Given the description of an element on the screen output the (x, y) to click on. 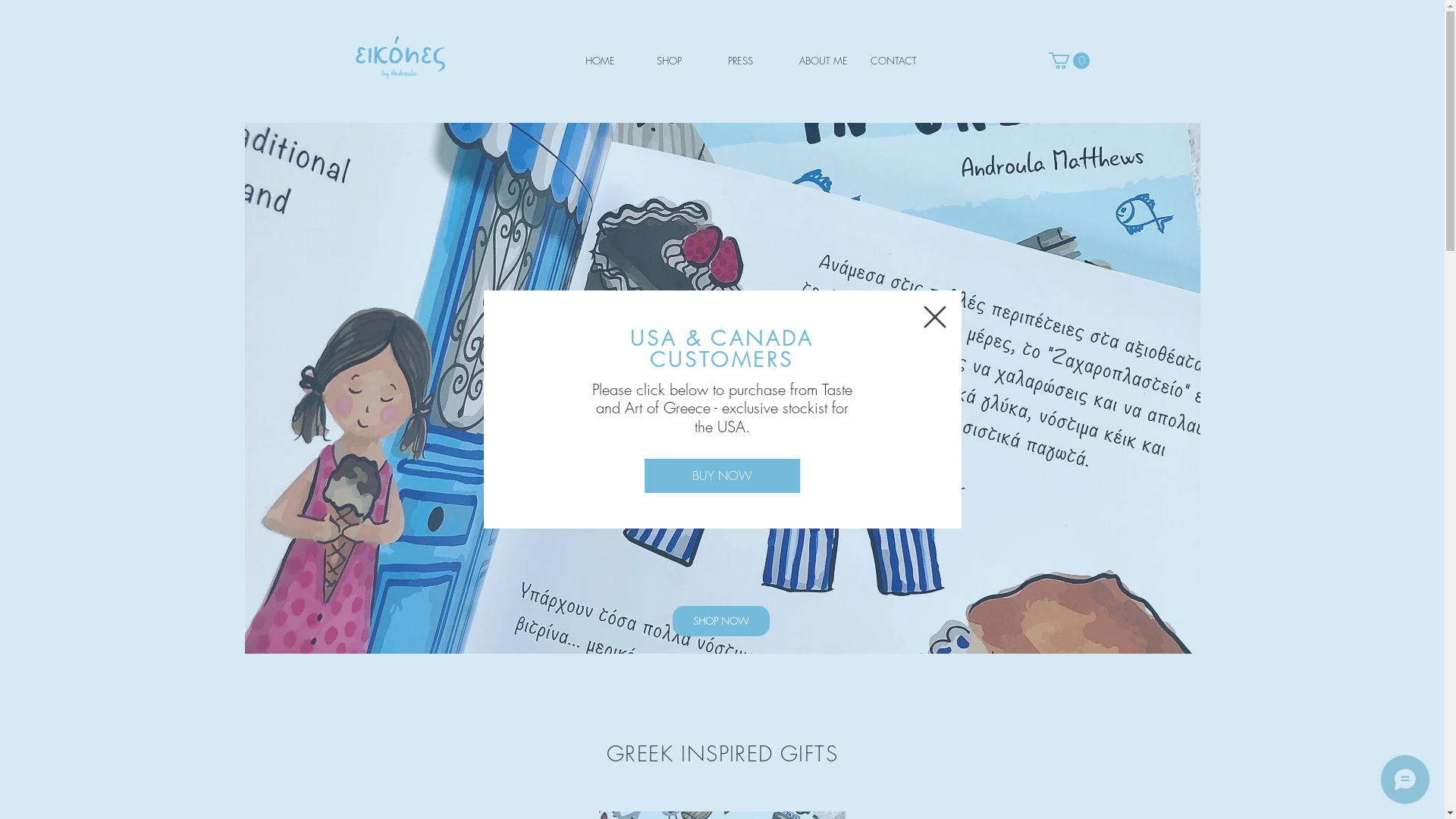
0 Element type: text (1068, 60)
CONTACT Element type: text (893, 60)
Back to site Element type: hover (934, 316)
SHOP Element type: text (679, 60)
SHOP NOW Element type: text (719, 620)
PRESS Element type: text (751, 60)
HOME Element type: text (608, 60)
ABOUT ME Element type: text (822, 60)
BUY NOW Element type: text (722, 475)
